Given the description of an element on the screen output the (x, y) to click on. 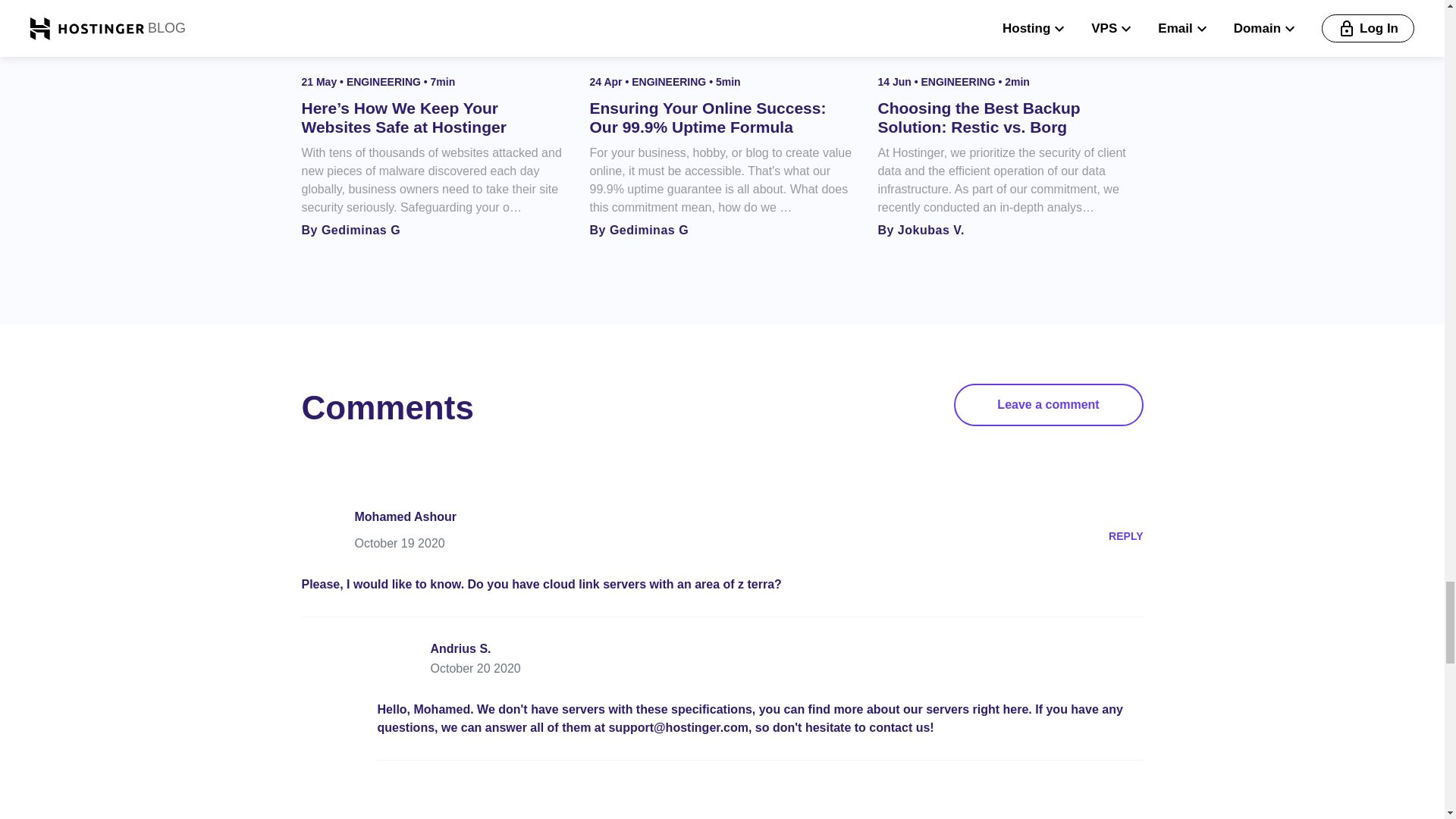
By Gediminas G (351, 230)
ENGINEERING (670, 81)
ENGINEERING (384, 81)
